Given the description of an element on the screen output the (x, y) to click on. 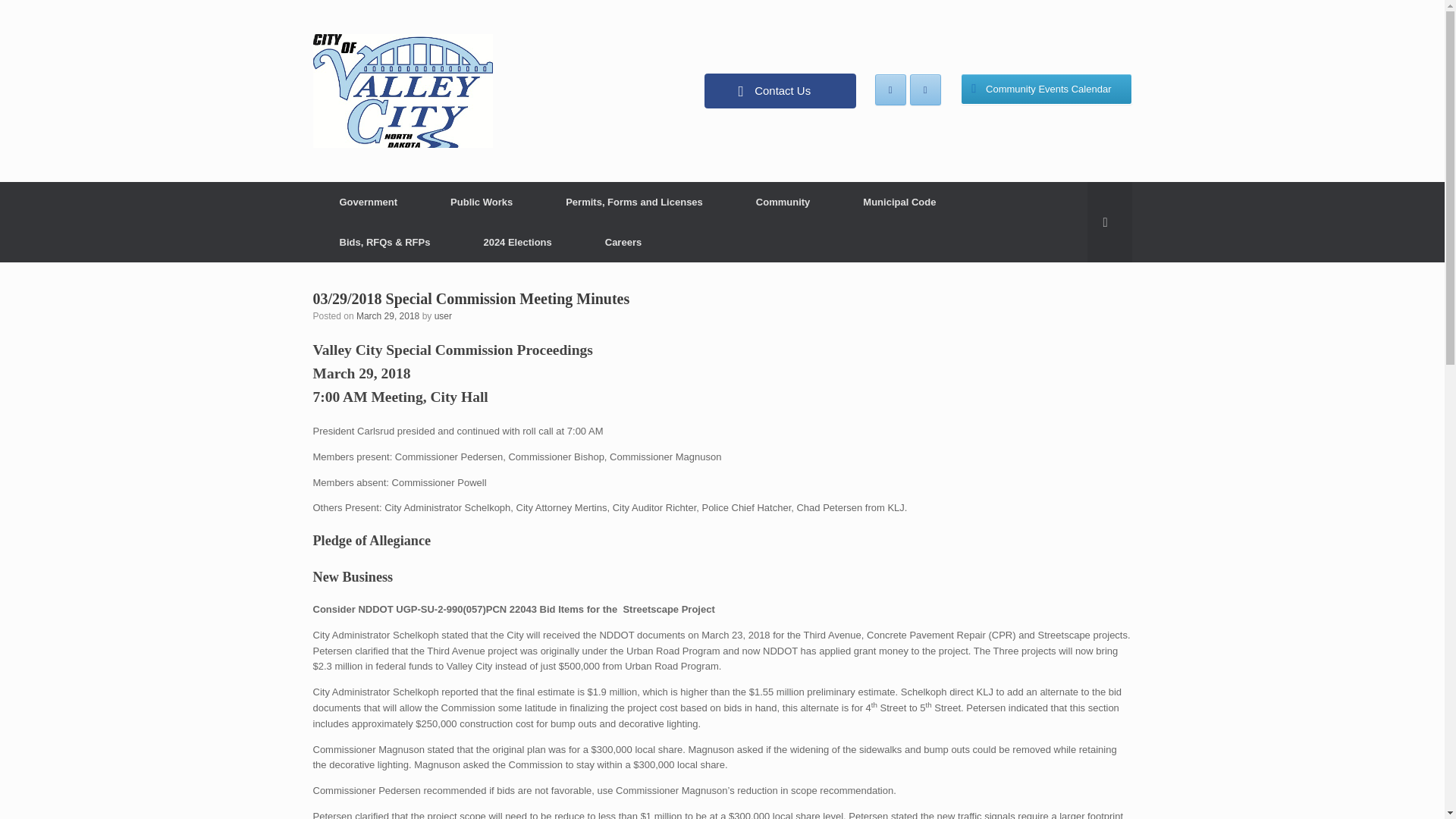
Community (783, 201)
City of Valley City on Instagram (925, 89)
Permits, Forms and Licenses (633, 201)
12:59 pm (387, 316)
City of Valley City (402, 91)
City of Valley City on Facebook (890, 89)
Contact Us (780, 90)
Government (368, 201)
Public Works (480, 201)
Community Events Calendar (1046, 88)
View all posts by user (442, 316)
